Given the description of an element on the screen output the (x, y) to click on. 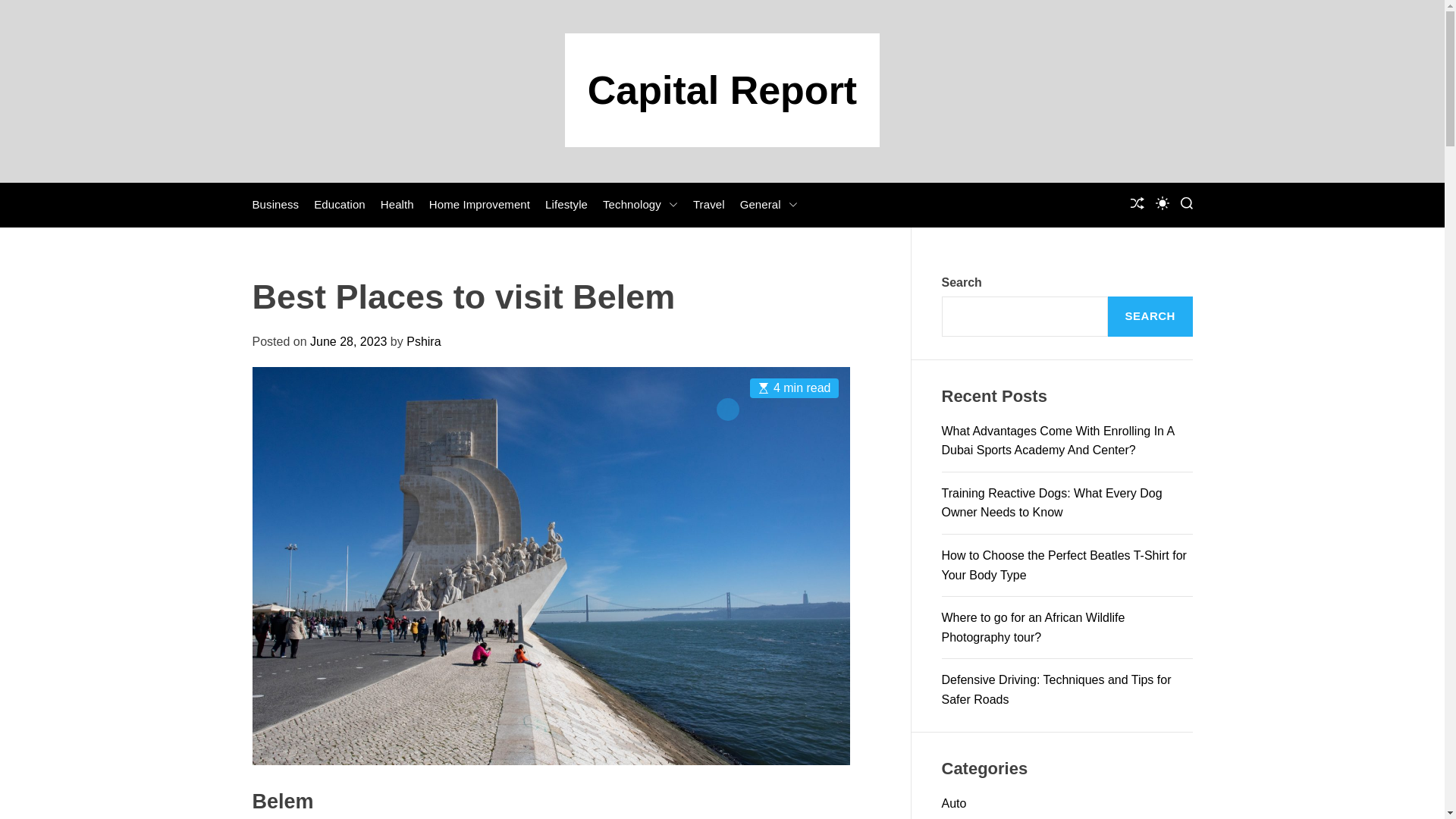
Travel (709, 204)
Technology (640, 205)
SWITCH COLOR MODE (1162, 202)
Pshira (423, 341)
June 28, 2023 (348, 341)
Capital Report (722, 89)
Business (274, 204)
Education (339, 204)
Health (396, 204)
General (768, 205)
Home Improvement (479, 204)
Lifestyle (566, 204)
